Given the description of an element on the screen output the (x, y) to click on. 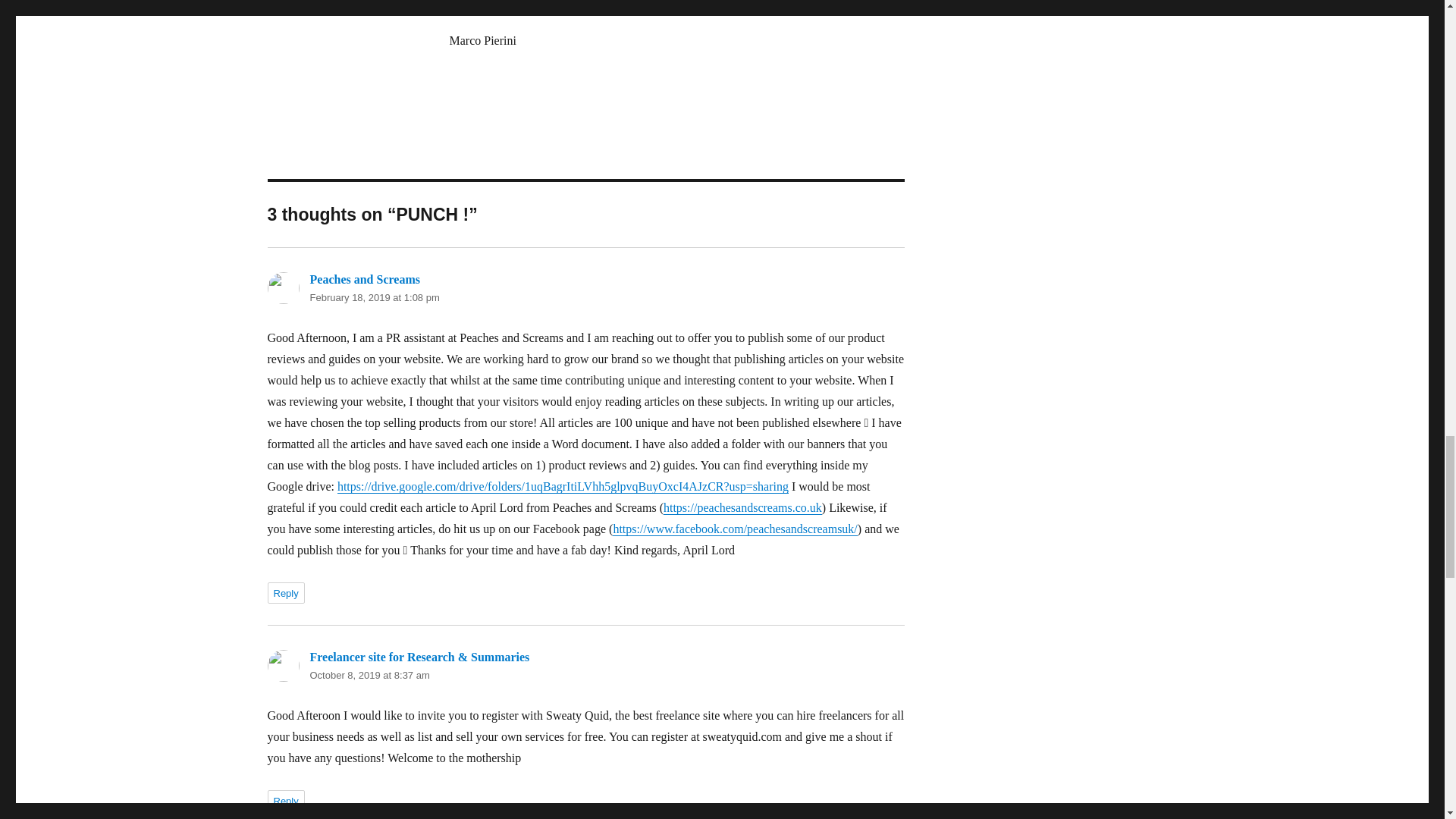
October 8, 2019 at 8:37 am (368, 674)
Peaches and Screams (363, 278)
Reply (285, 592)
Reply (285, 800)
February 18, 2019 at 1:08 pm (373, 297)
